Given the description of an element on the screen output the (x, y) to click on. 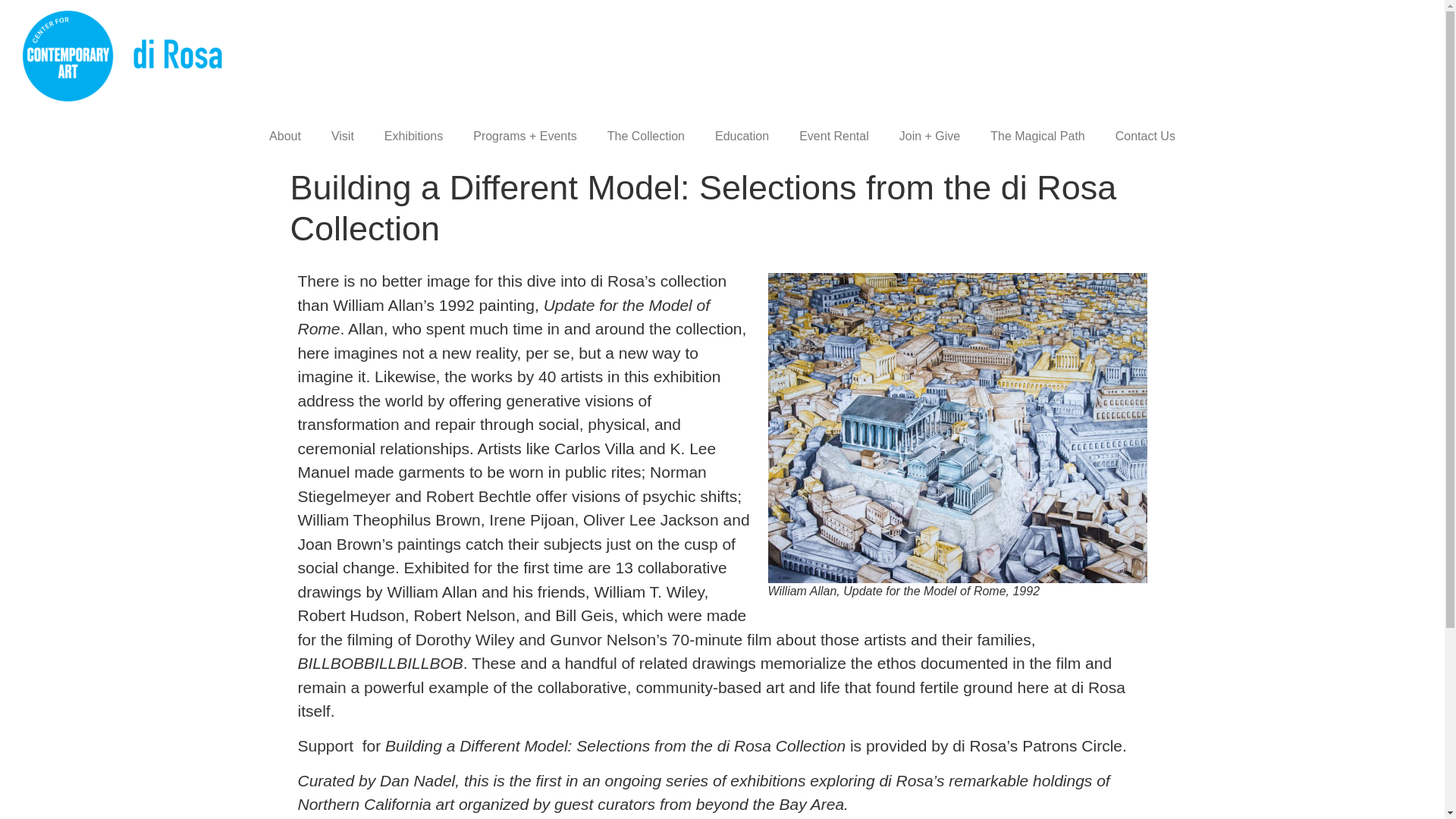
Event Rental (833, 135)
Education (742, 135)
The Magical Path (1037, 135)
About (284, 135)
Visit (342, 135)
The Collection (646, 135)
Contact Us (1145, 135)
Exhibitions (413, 135)
